Given the description of an element on the screen output the (x, y) to click on. 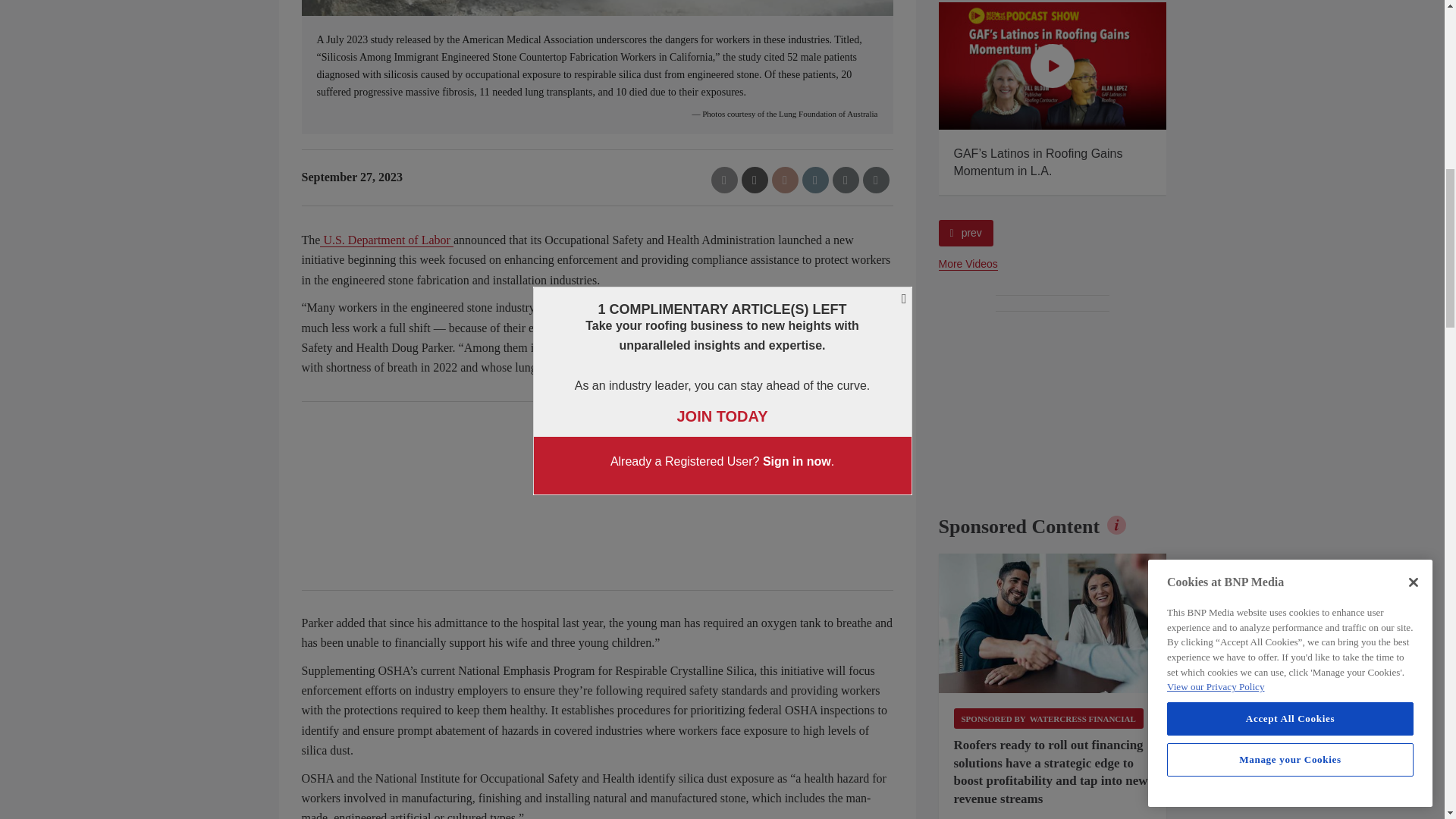
Sponsored by Watercress Financial (1047, 718)
